Given the description of an element on the screen output the (x, y) to click on. 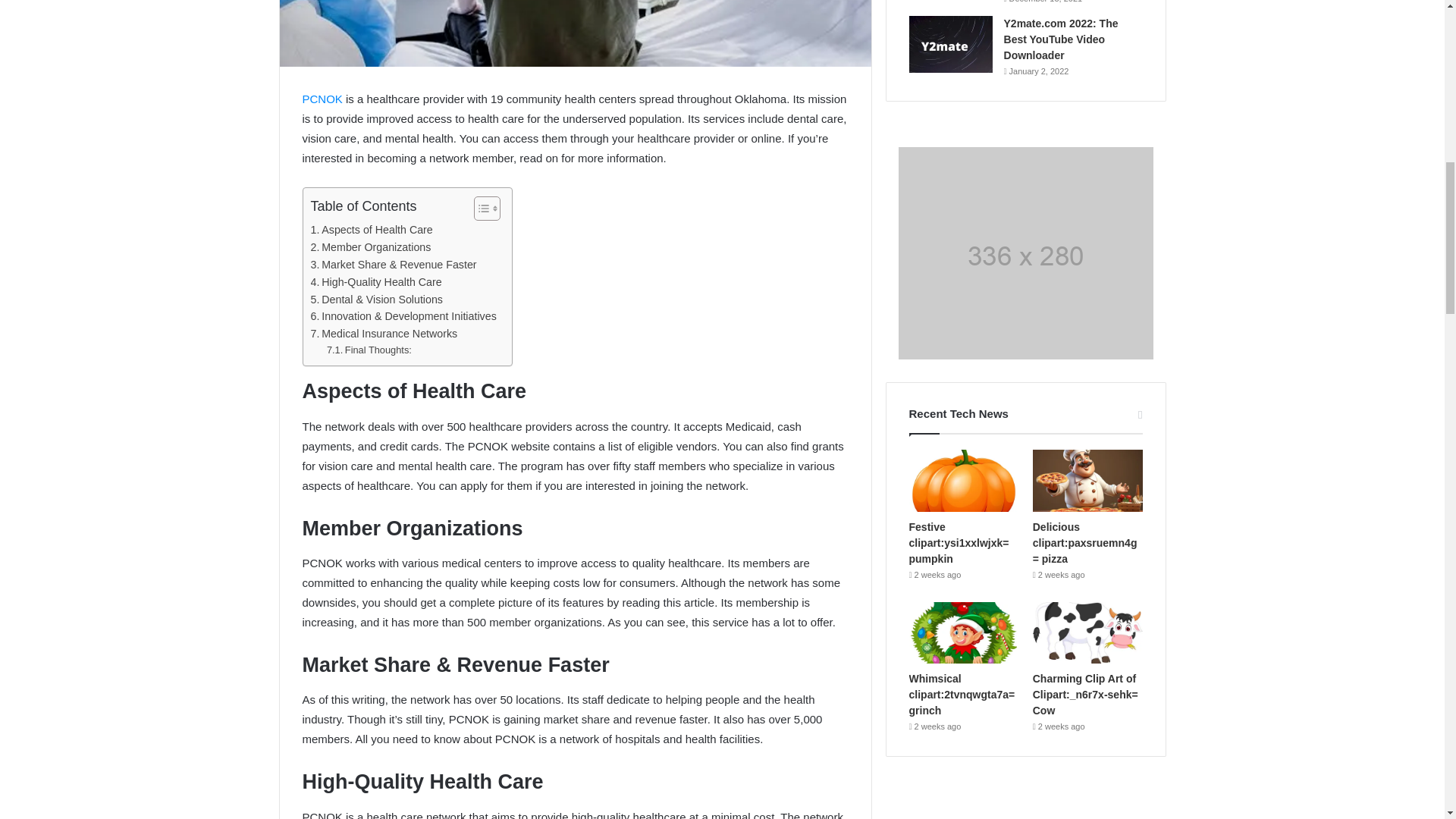
Member Organizations (370, 247)
PCNOK (321, 98)
Aspects of Health Care (371, 230)
